Given the description of an element on the screen output the (x, y) to click on. 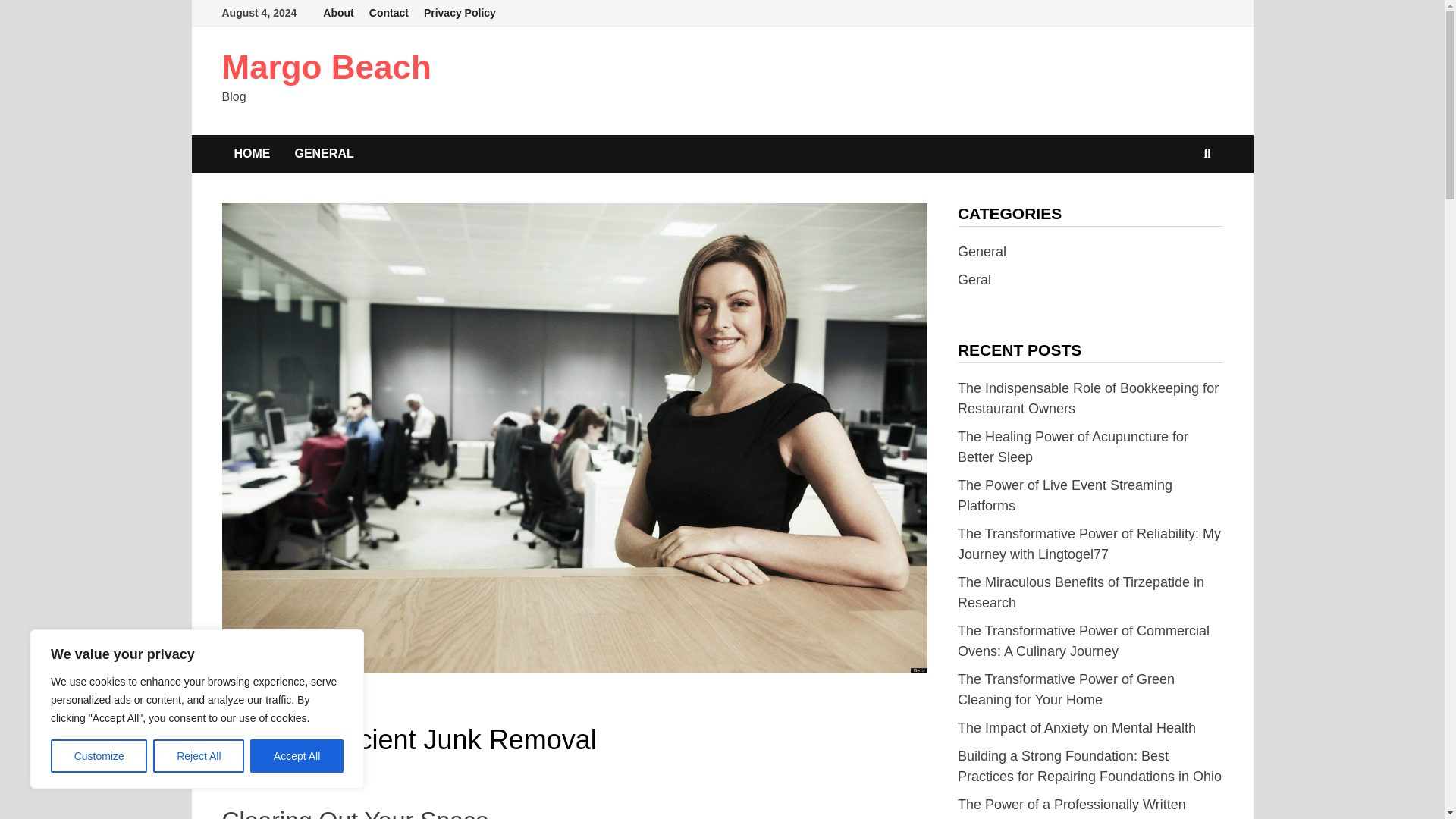
GENERAL (247, 706)
GENERAL (323, 153)
About (338, 13)
Accept All (296, 756)
Reject All (198, 756)
HOME (251, 153)
Contact (388, 13)
Privacy Policy (459, 13)
Customize (98, 756)
Margo Beach (325, 66)
